Given the description of an element on the screen output the (x, y) to click on. 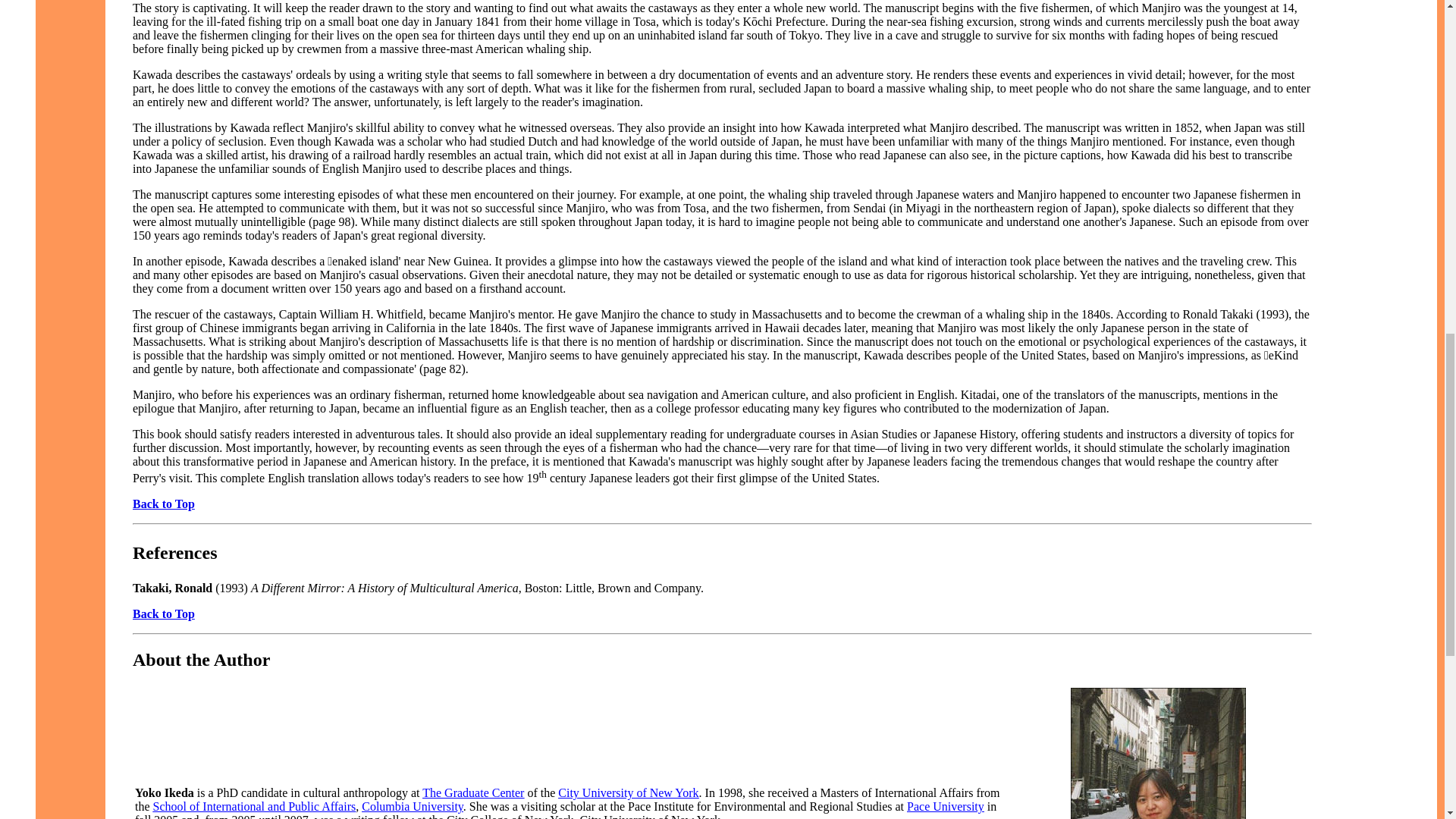
Columbia University (412, 806)
School of International and Public Affairs (254, 806)
The Graduate Center (473, 792)
Back to Top (163, 503)
Pace University (945, 806)
About the Author (200, 659)
Back to Top (163, 613)
City University of New York (627, 792)
